Given the description of an element on the screen output the (x, y) to click on. 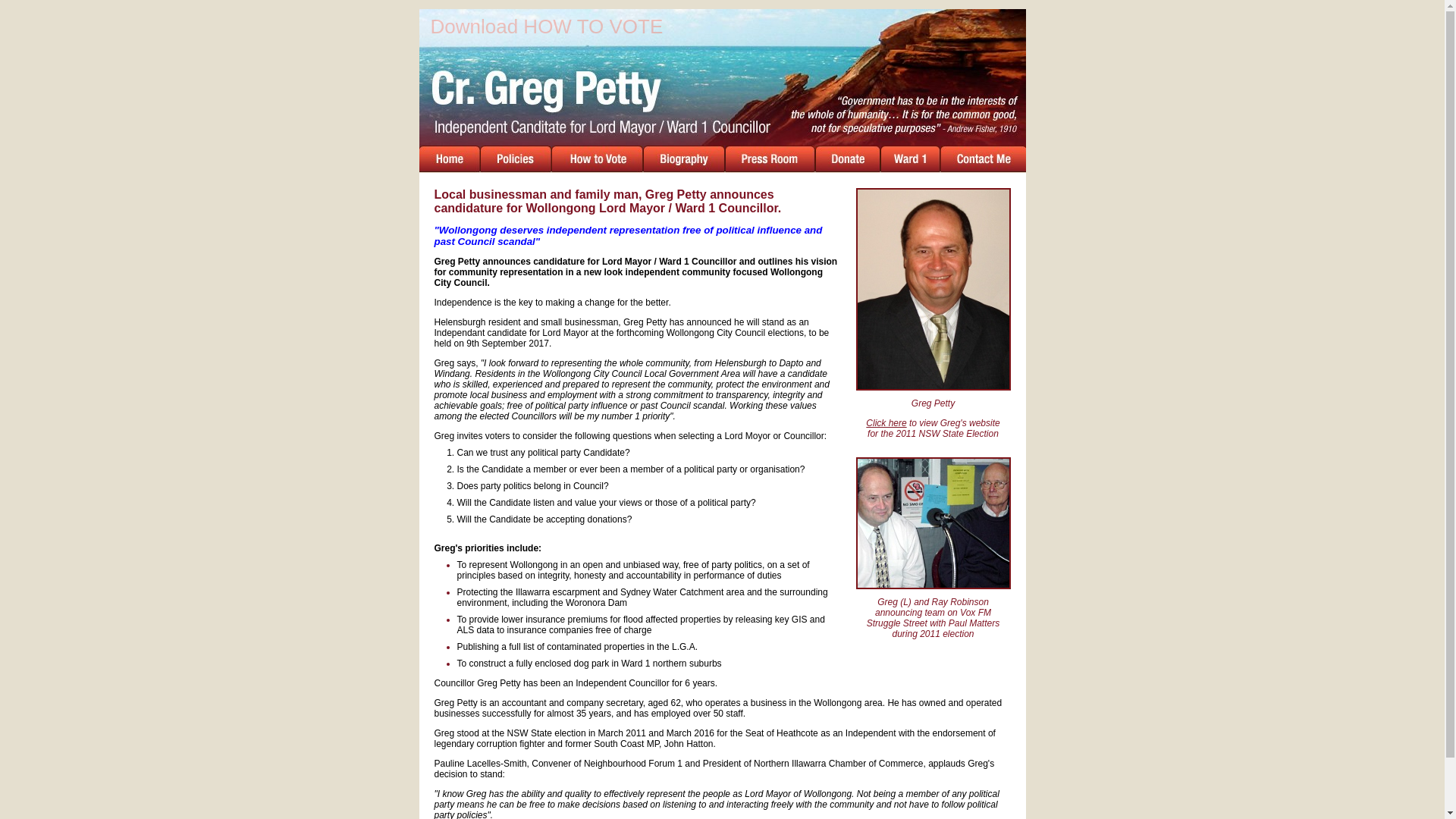
Download HOW TO VOTE Element type: text (546, 26)
Click here Element type: text (886, 422)
